Given the description of an element on the screen output the (x, y) to click on. 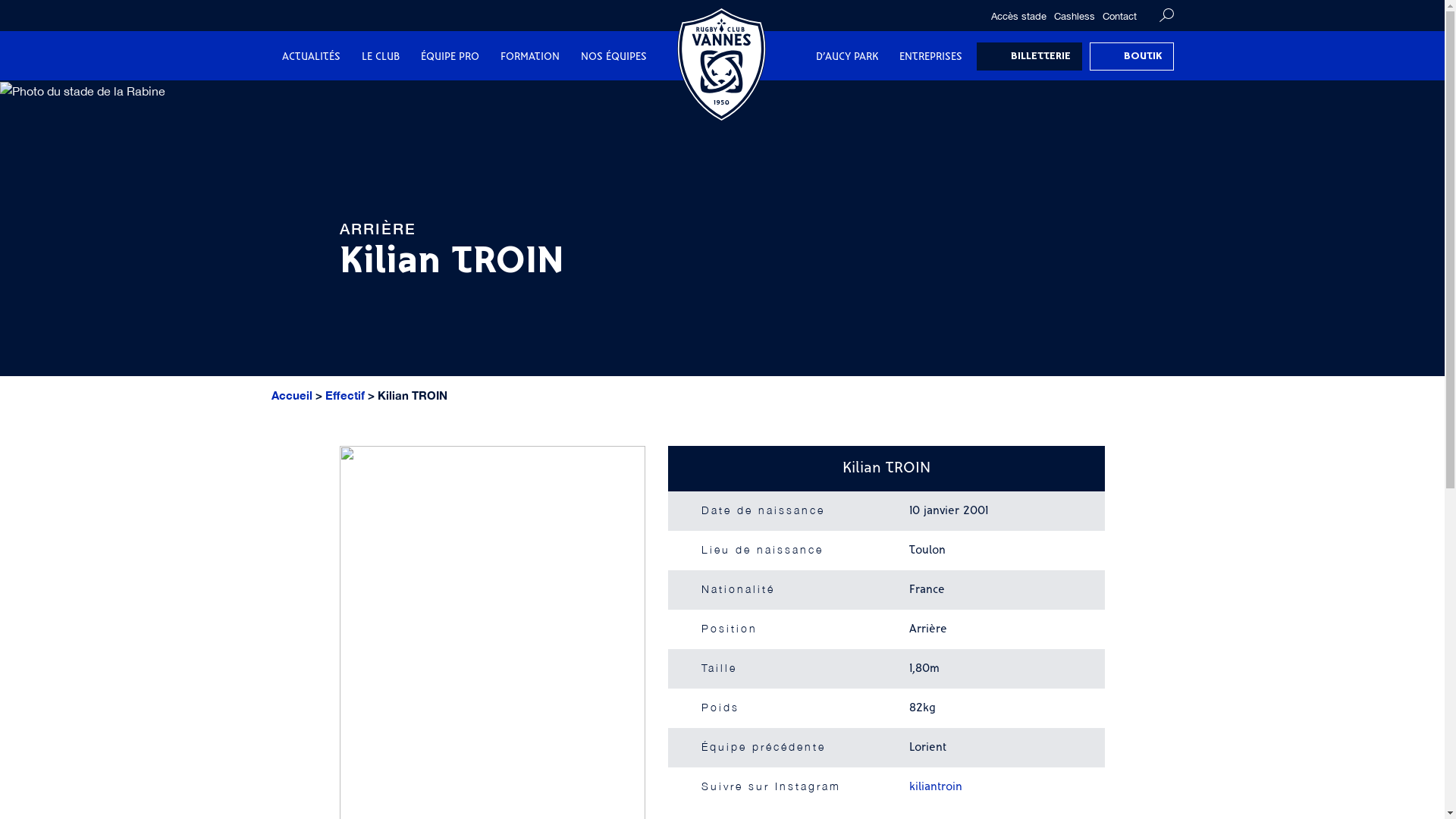
Histoire Element type: text (440, 97)
FORMATION Element type: text (529, 56)
Contact Element type: text (1118, 17)
Effectif Element type: text (535, 97)
Classement Element type: text (894, 97)
BILLETTERIE Element type: text (1029, 56)
Centre de Formation Element type: text (512, 97)
Espoirs Element type: text (442, 97)
Devenir partenaire Element type: text (771, 97)
Effectif Element type: text (344, 395)
RCV Business Klub Element type: text (463, 97)
Accueil Element type: text (291, 395)
SASP Element type: text (521, 97)
Staff Element type: text (612, 97)
Rechercher Element type: hover (1165, 14)
Infrastructures Element type: text (742, 97)
Effectif CDF Element type: text (658, 97)
Cashless Element type: text (1073, 17)
LE CLUB Element type: text (379, 56)
Cadets Element type: text (615, 97)
kiliantroin Element type: text (935, 786)
Juniors Element type: text (530, 97)
ENTREPRISES Element type: text (930, 56)
Association Element type: text (615, 97)
BOUTIK Element type: text (1130, 56)
Staff CDF Element type: text (765, 97)
Nos partenaires Element type: text (617, 97)
